Given the description of an element on the screen output the (x, y) to click on. 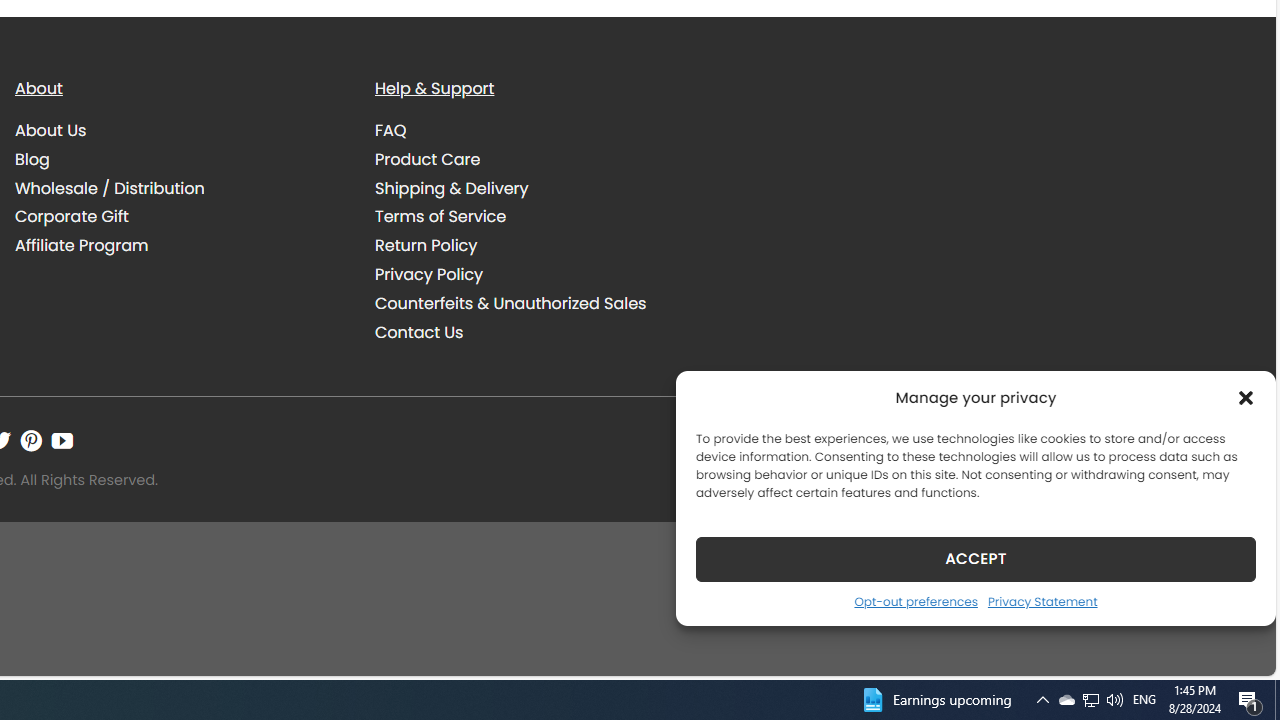
Product Care (540, 159)
Privacy Policy (429, 273)
About Us (180, 131)
Go to top (1234, 647)
Affiliate Program (180, 246)
Privacy Policy (540, 274)
Opt-out preferences (915, 601)
Terms of Service (540, 216)
FAQ (391, 130)
Blog (180, 159)
Shipping & Delivery (540, 188)
Wholesale / Distribution (109, 187)
Privacy Statement (1042, 601)
About Us (51, 130)
